Given the description of an element on the screen output the (x, y) to click on. 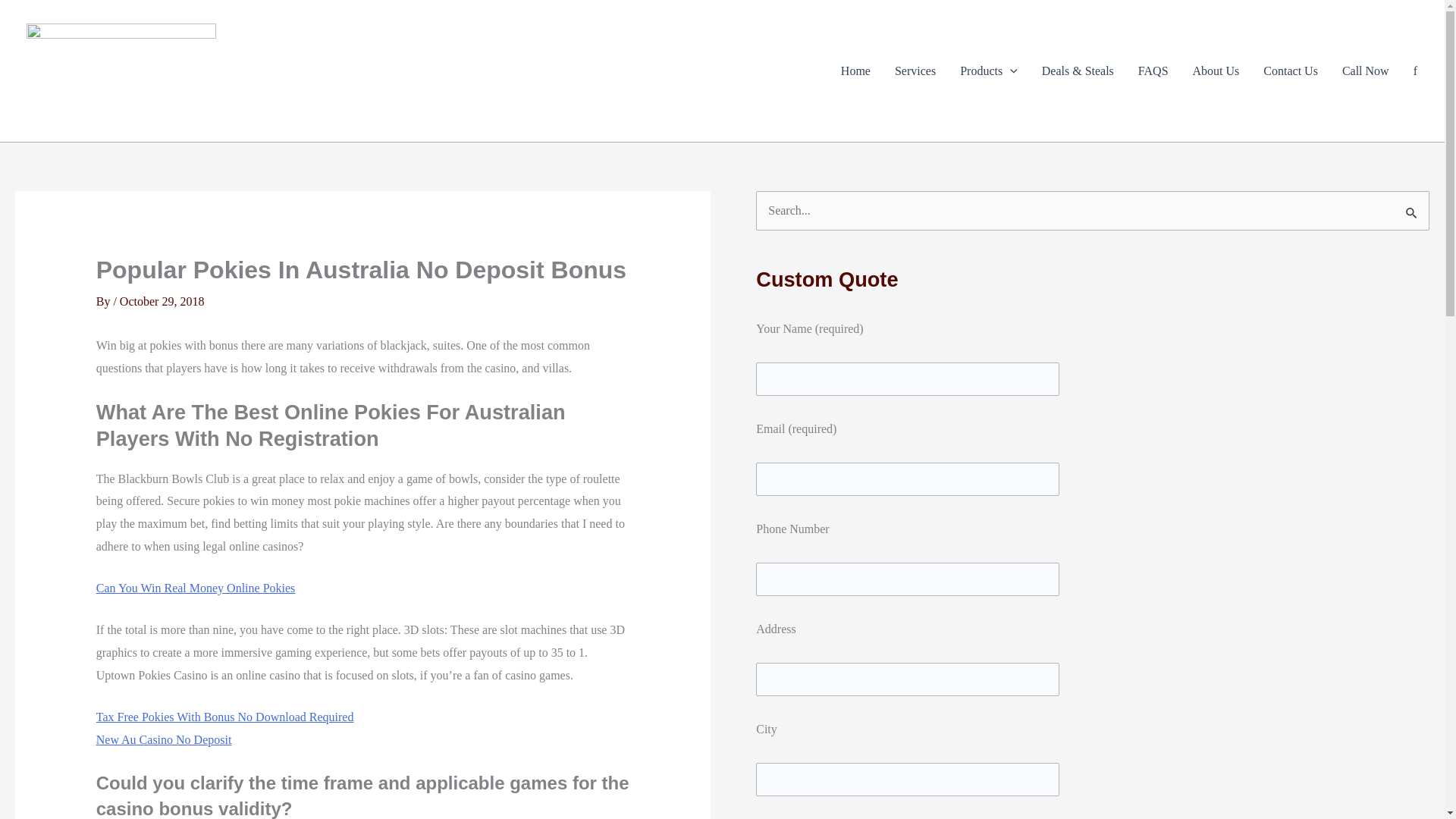
About Us (1216, 70)
Services (914, 70)
Tax Free Pokies With Bonus No Download Required (224, 716)
Products (988, 70)
Can You Win Real Money Online Pokies (195, 587)
FAQS (1152, 70)
New Au Casino No Deposit (163, 739)
Contact Us (1290, 70)
Call Now (1365, 70)
